Given the description of an element on the screen output the (x, y) to click on. 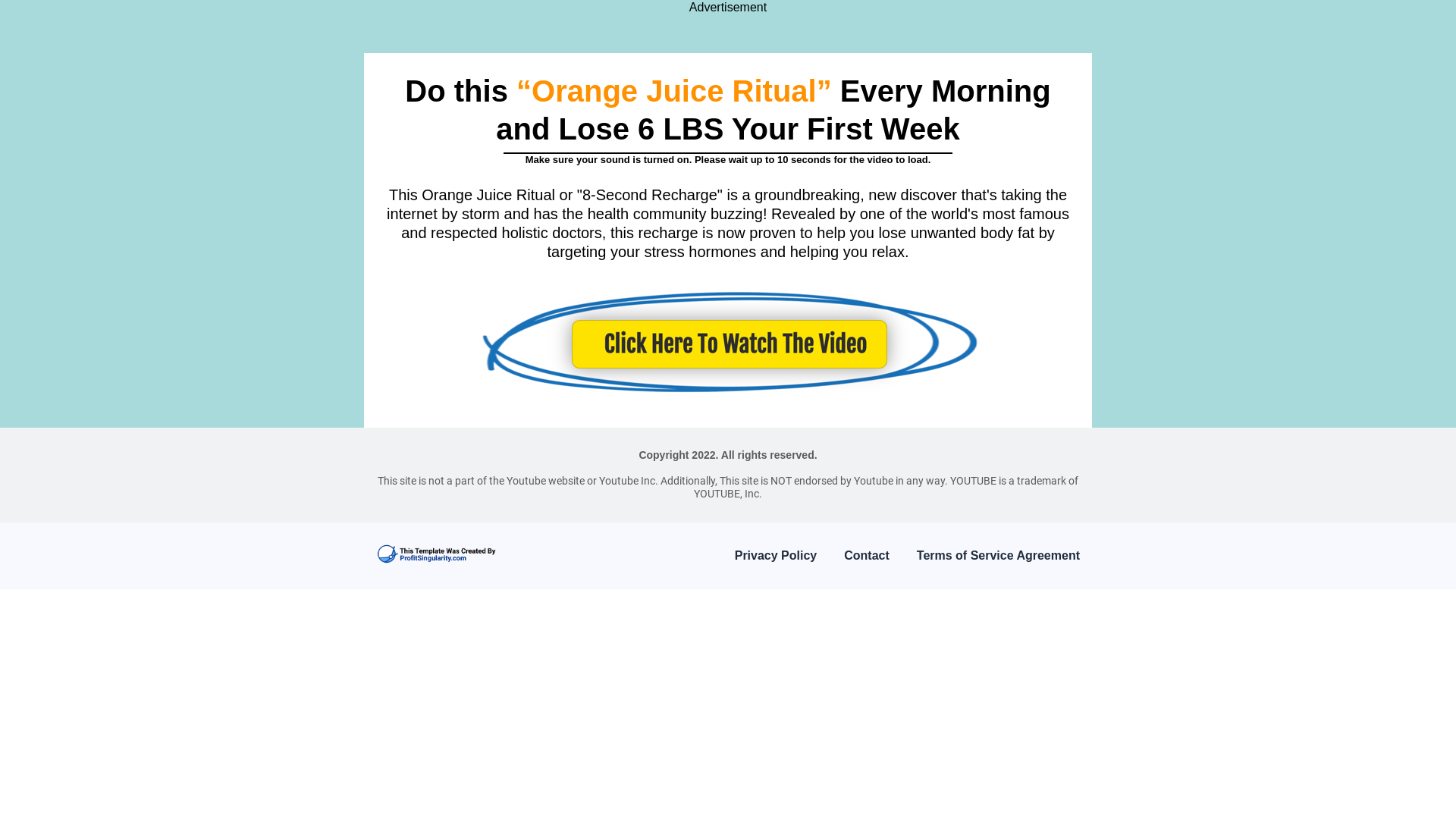
Privacy Policy Element type: text (775, 555)
Contact Element type: text (866, 555)
Terms of Service Agreement Element type: text (997, 555)
